Given the description of an element on the screen output the (x, y) to click on. 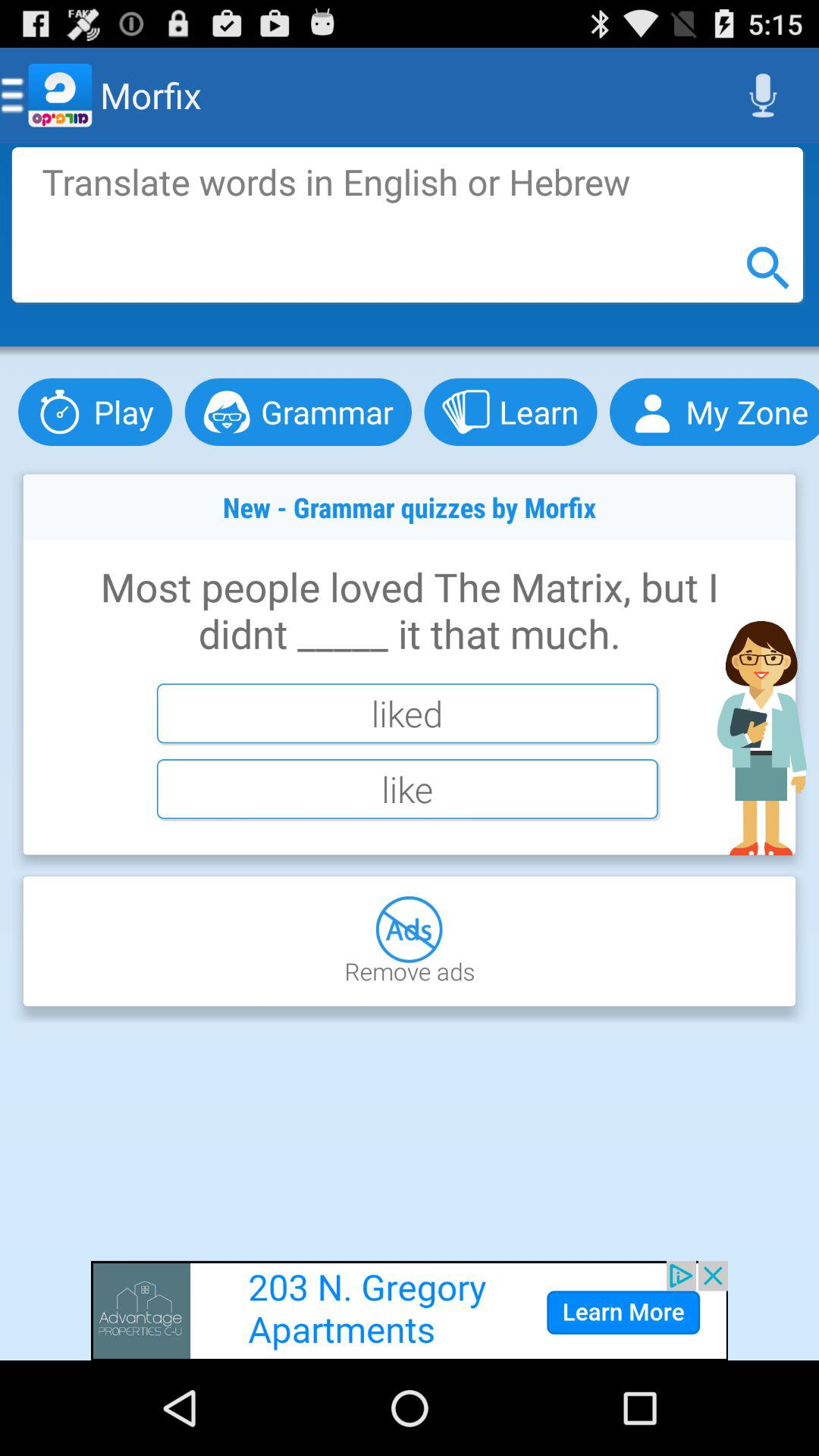
search (407, 224)
